Given the description of an element on the screen output the (x, y) to click on. 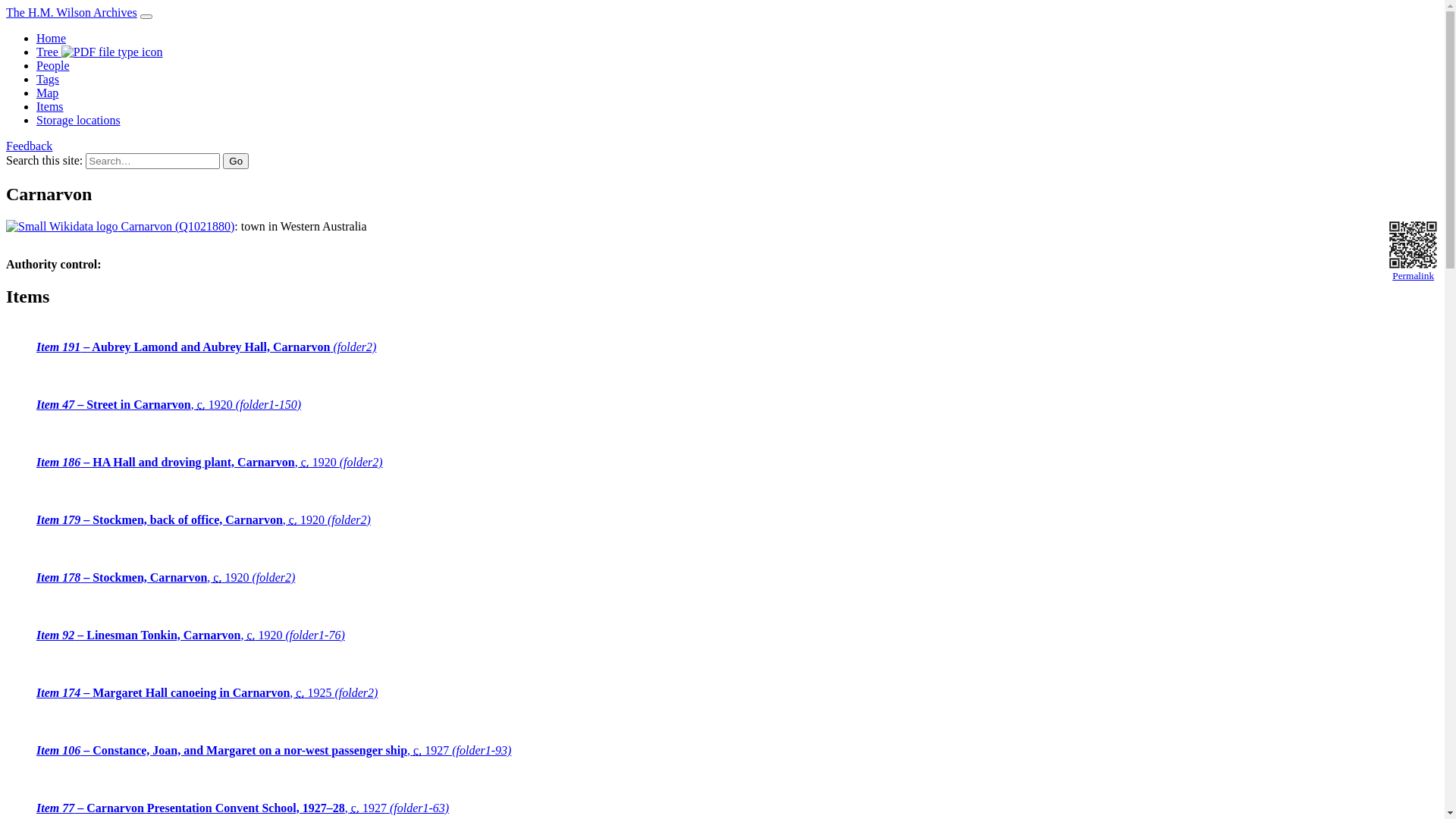
People Element type: text (52, 65)
Permalink Element type: text (1412, 250)
Tags Element type: text (47, 78)
Go Element type: text (235, 161)
Tree Element type: text (99, 51)
Home Element type: text (50, 37)
Carnarvon (Q1021880) Element type: text (120, 225)
Feedback Element type: text (29, 145)
Items Element type: text (49, 106)
Map Element type: text (47, 92)
Storage locations Element type: text (78, 119)
The H.M. Wilson Archives Element type: text (71, 12)
